Given the description of an element on the screen output the (x, y) to click on. 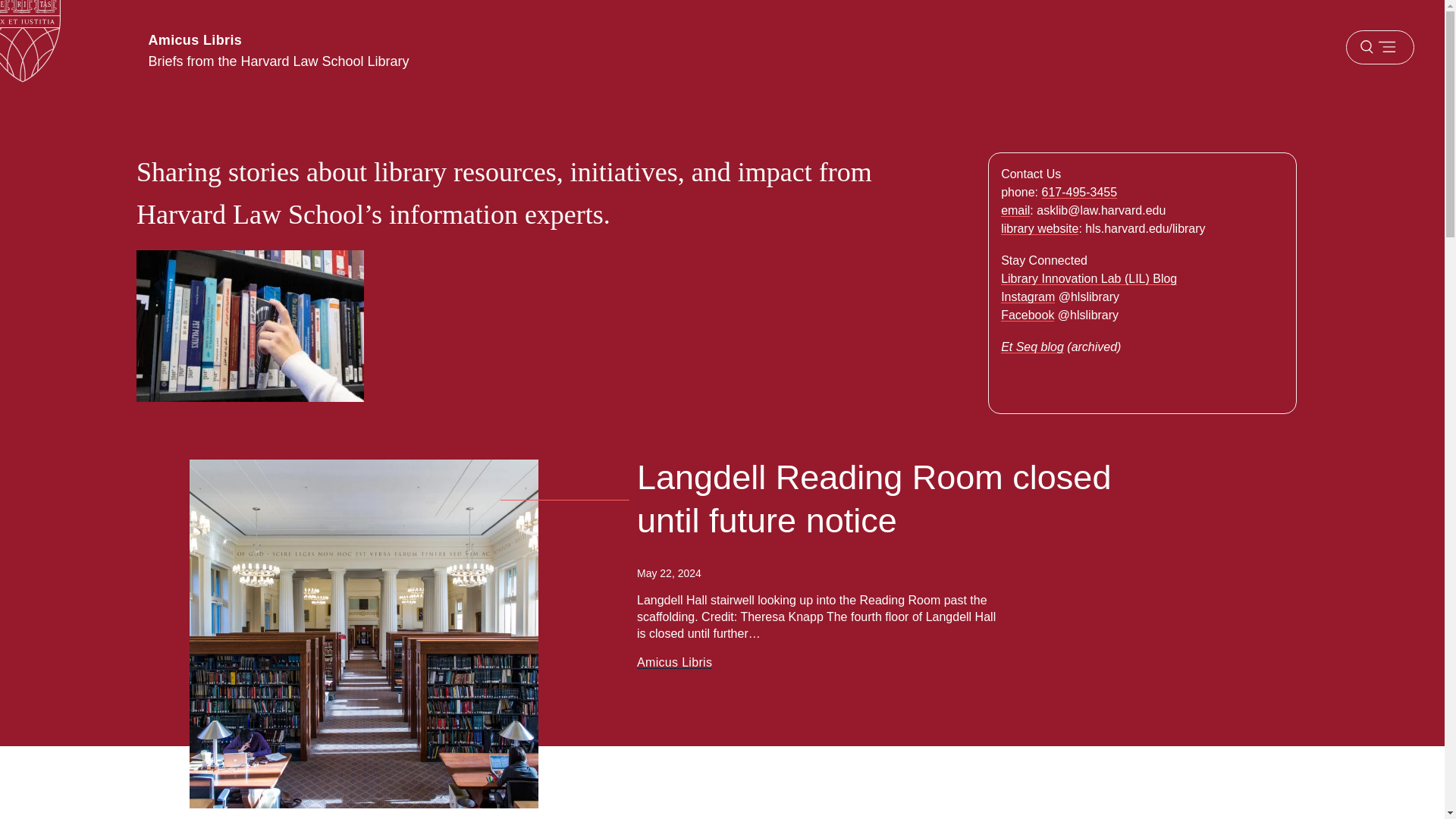
Open menu (1379, 47)
